Given the description of an element on the screen output the (x, y) to click on. 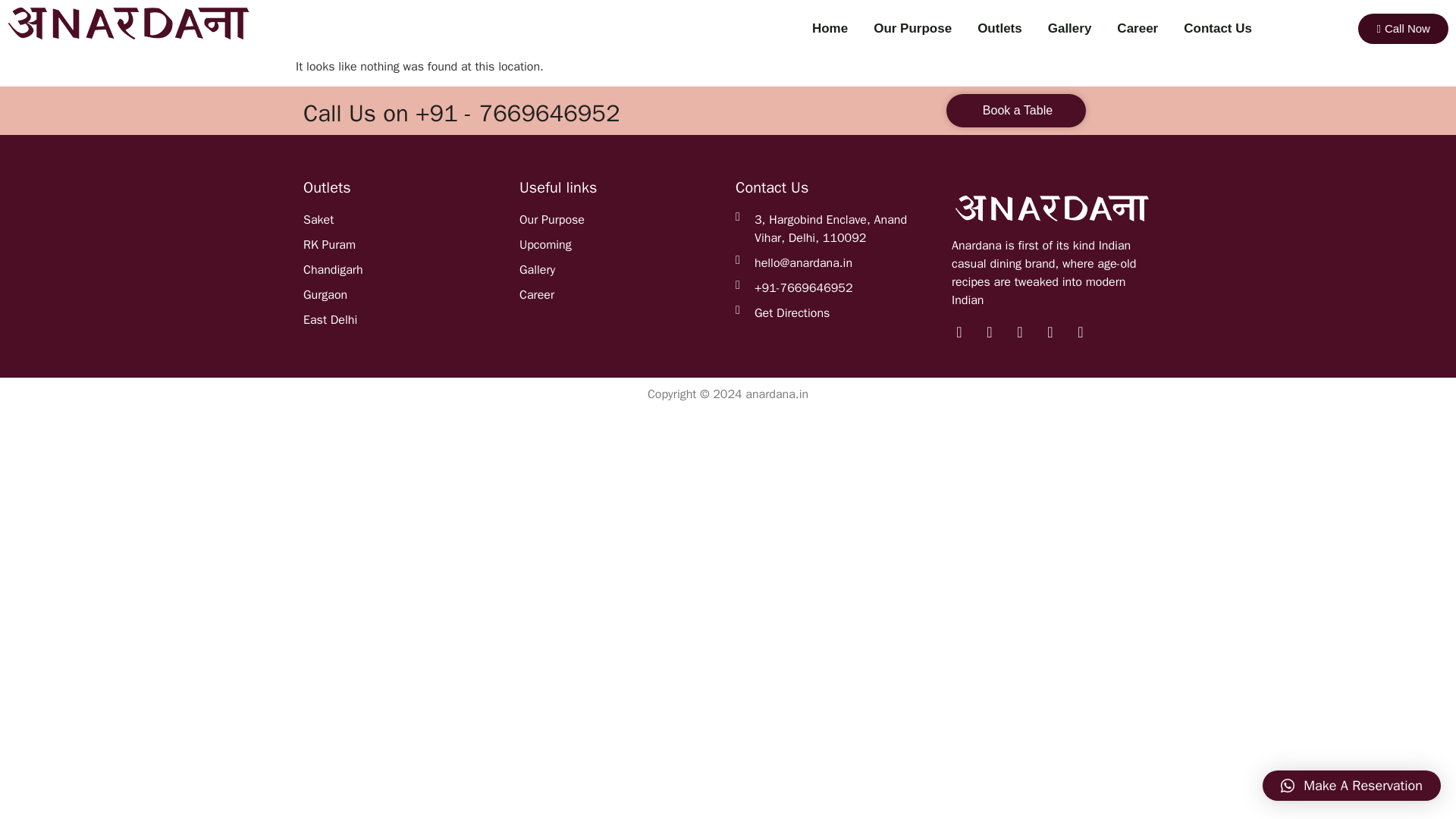
Career (619, 294)
Contact Us (1217, 28)
Gurgaon (402, 294)
Book a Table (1016, 110)
Upcoming (619, 244)
Gallery (619, 270)
Our Purpose (619, 219)
Outlets (999, 28)
Chandigarh (402, 270)
Career (1137, 28)
